Given the description of an element on the screen output the (x, y) to click on. 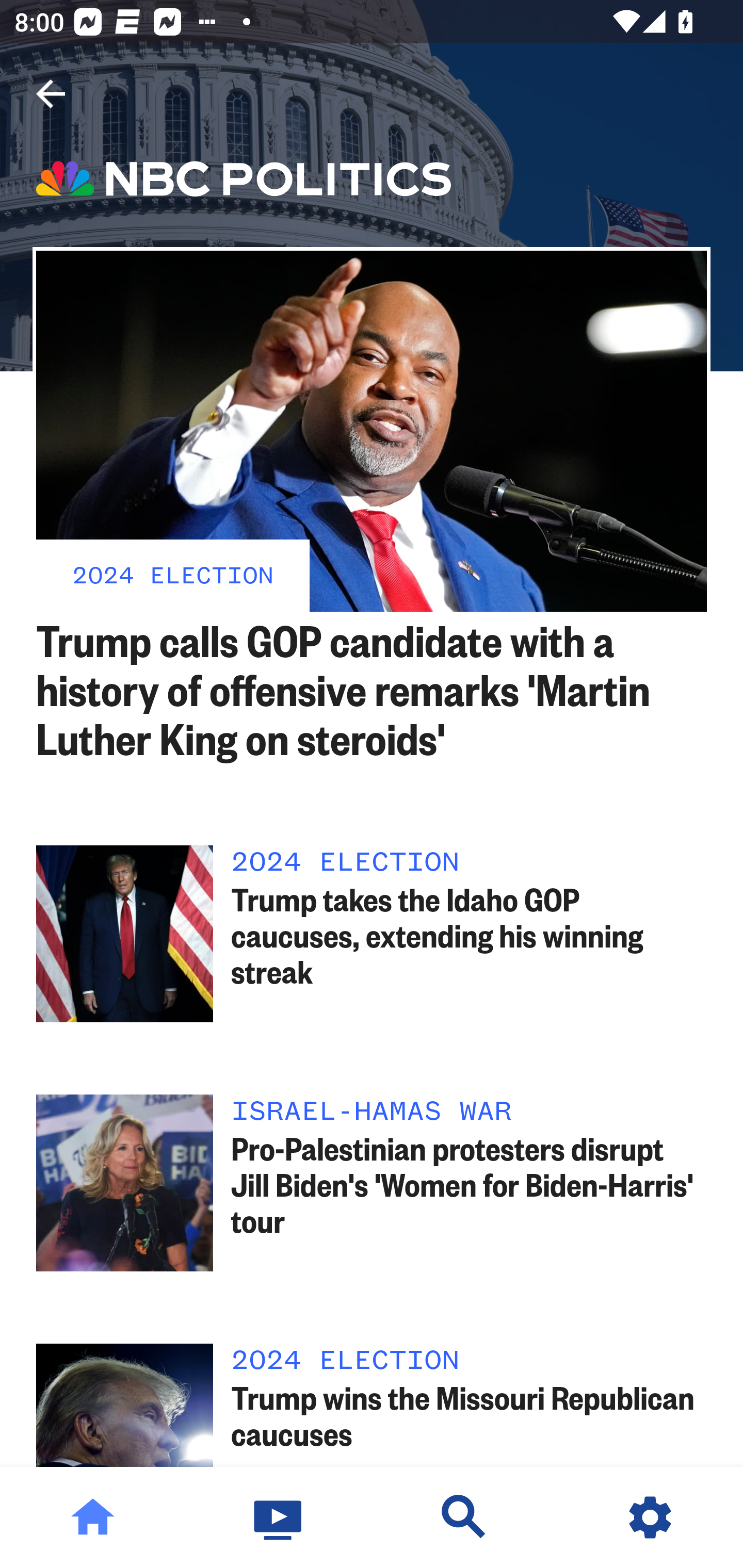
Navigate up (50, 93)
Watch (278, 1517)
Discover (464, 1517)
Settings (650, 1517)
